Given the description of an element on the screen output the (x, y) to click on. 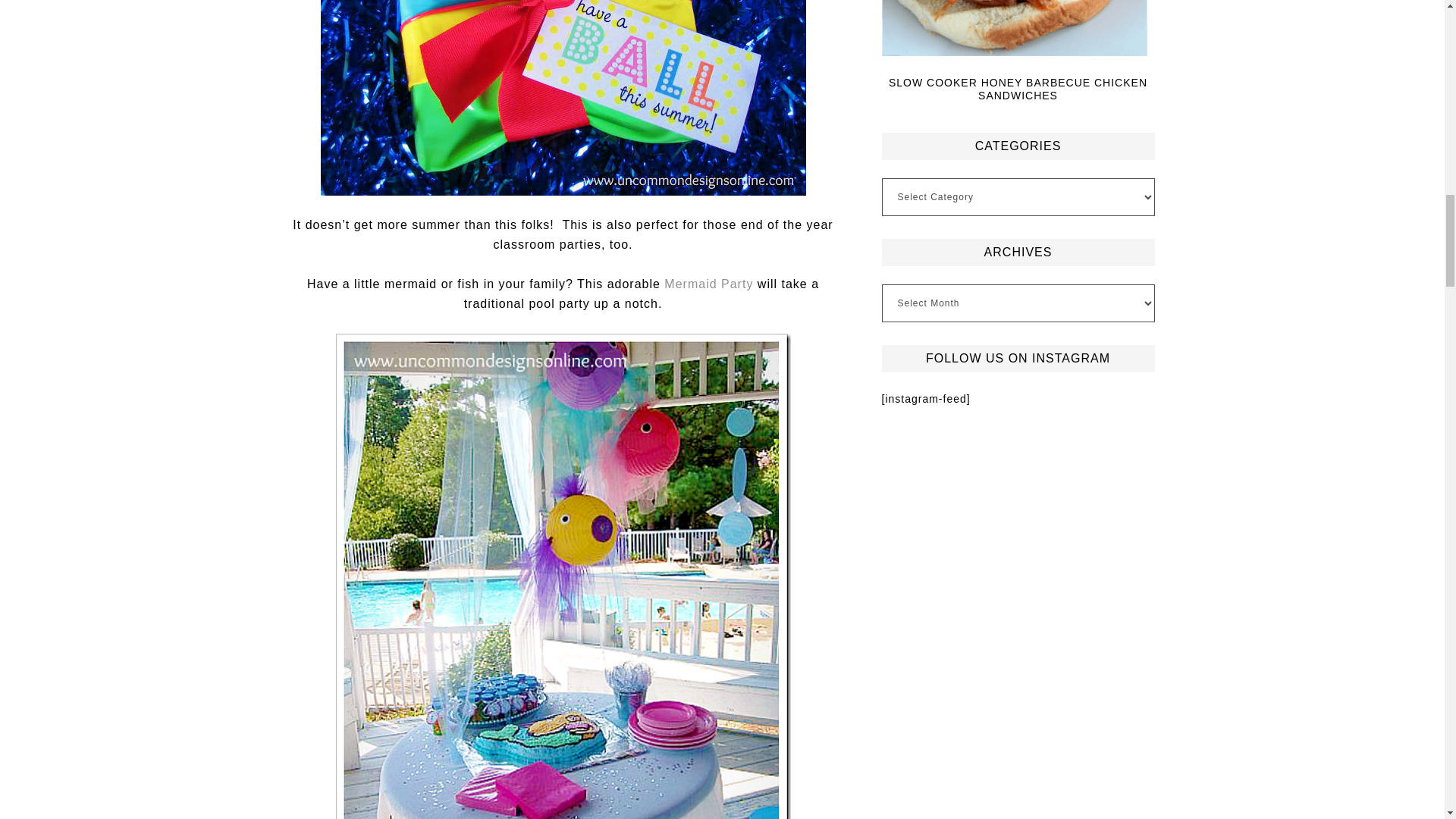
A Simple Mermaid Party (709, 283)
Summer Beach Ball theme party favor from Uncommon Designs. (562, 97)
